Given the description of an element on the screen output the (x, y) to click on. 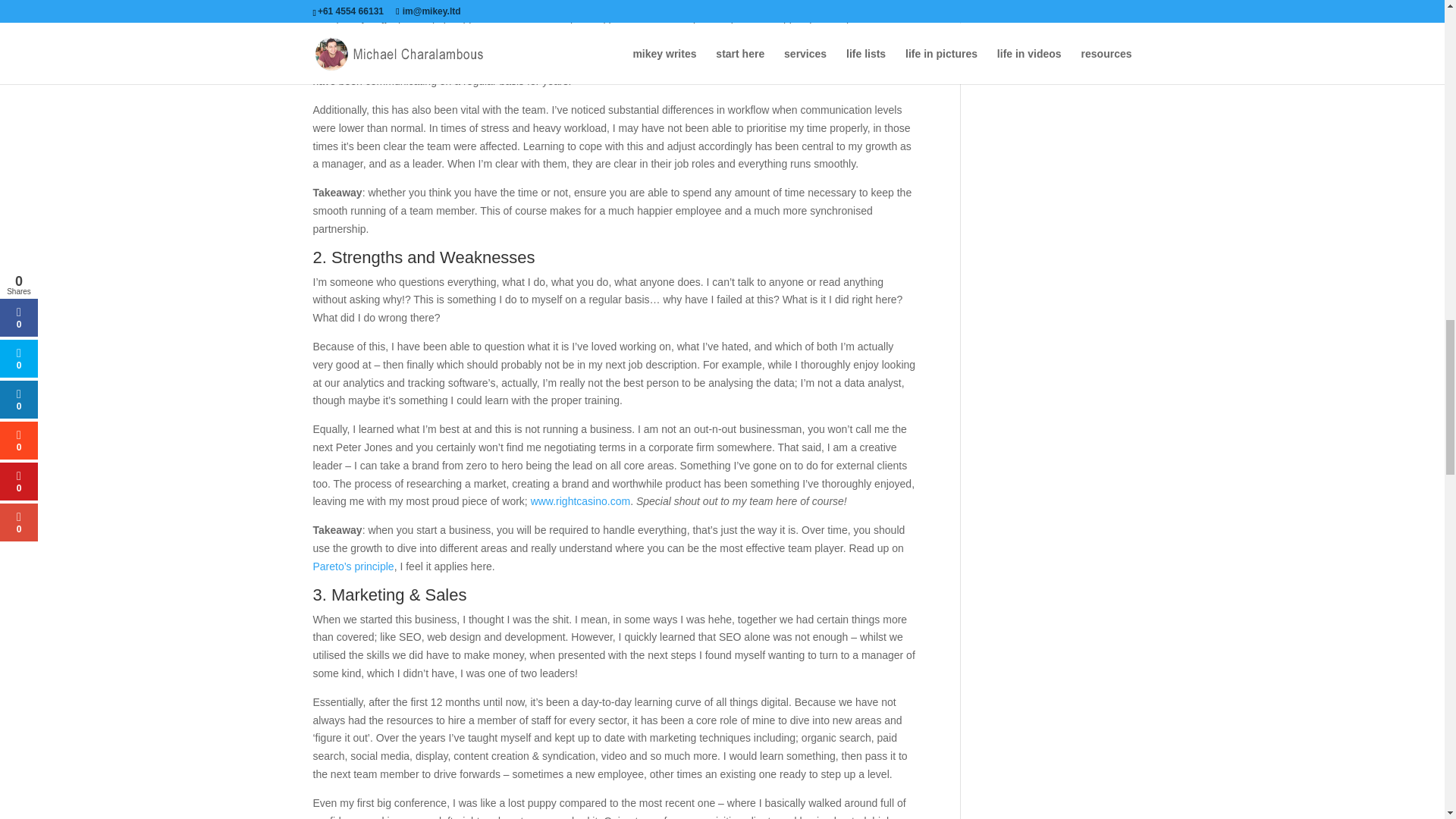
www.rightcasino.com (580, 500)
RightCasino.com (580, 500)
